Given the description of an element on the screen output the (x, y) to click on. 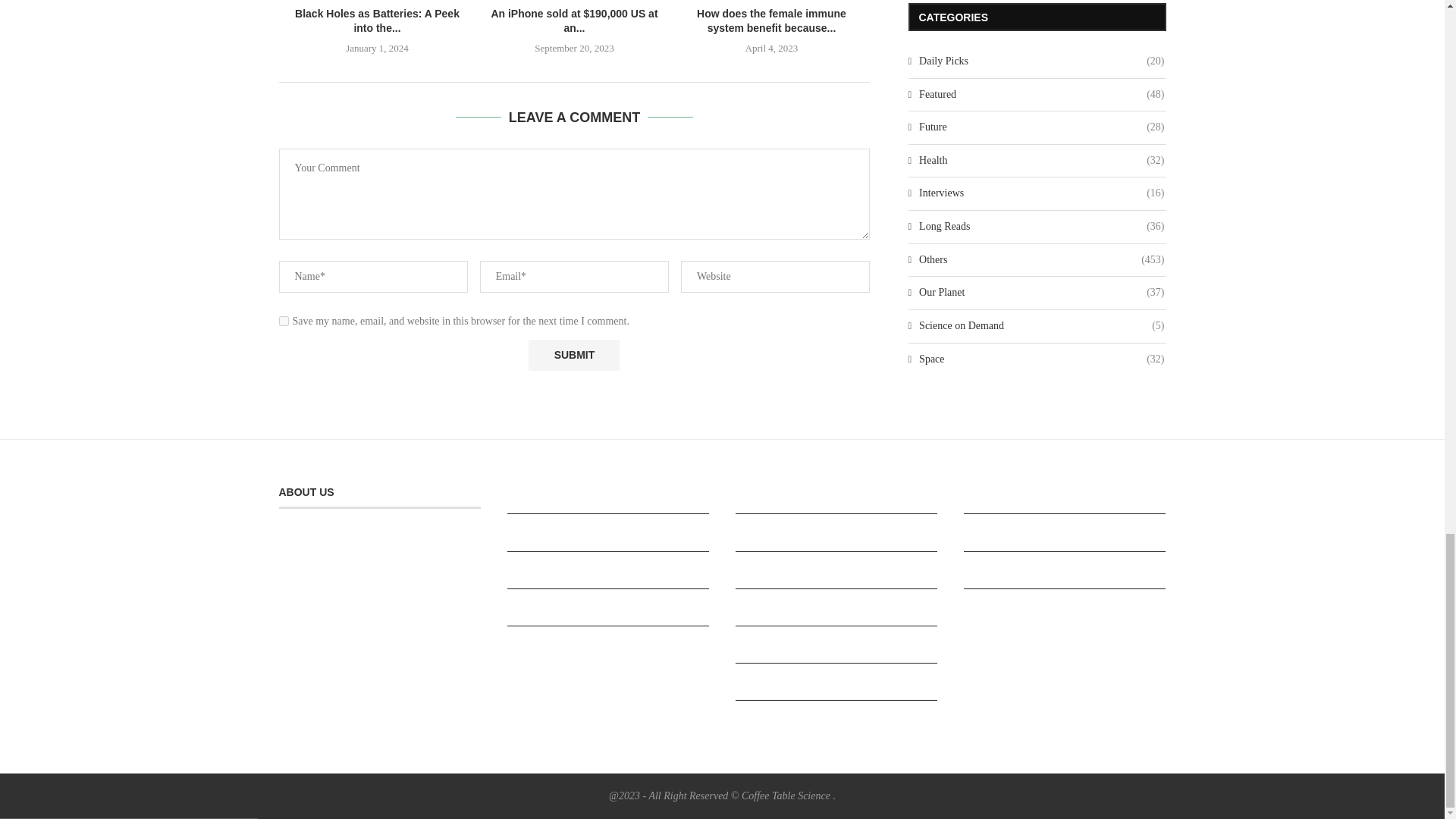
yes (283, 320)
Submit (574, 355)
